Given the description of an element on the screen output the (x, y) to click on. 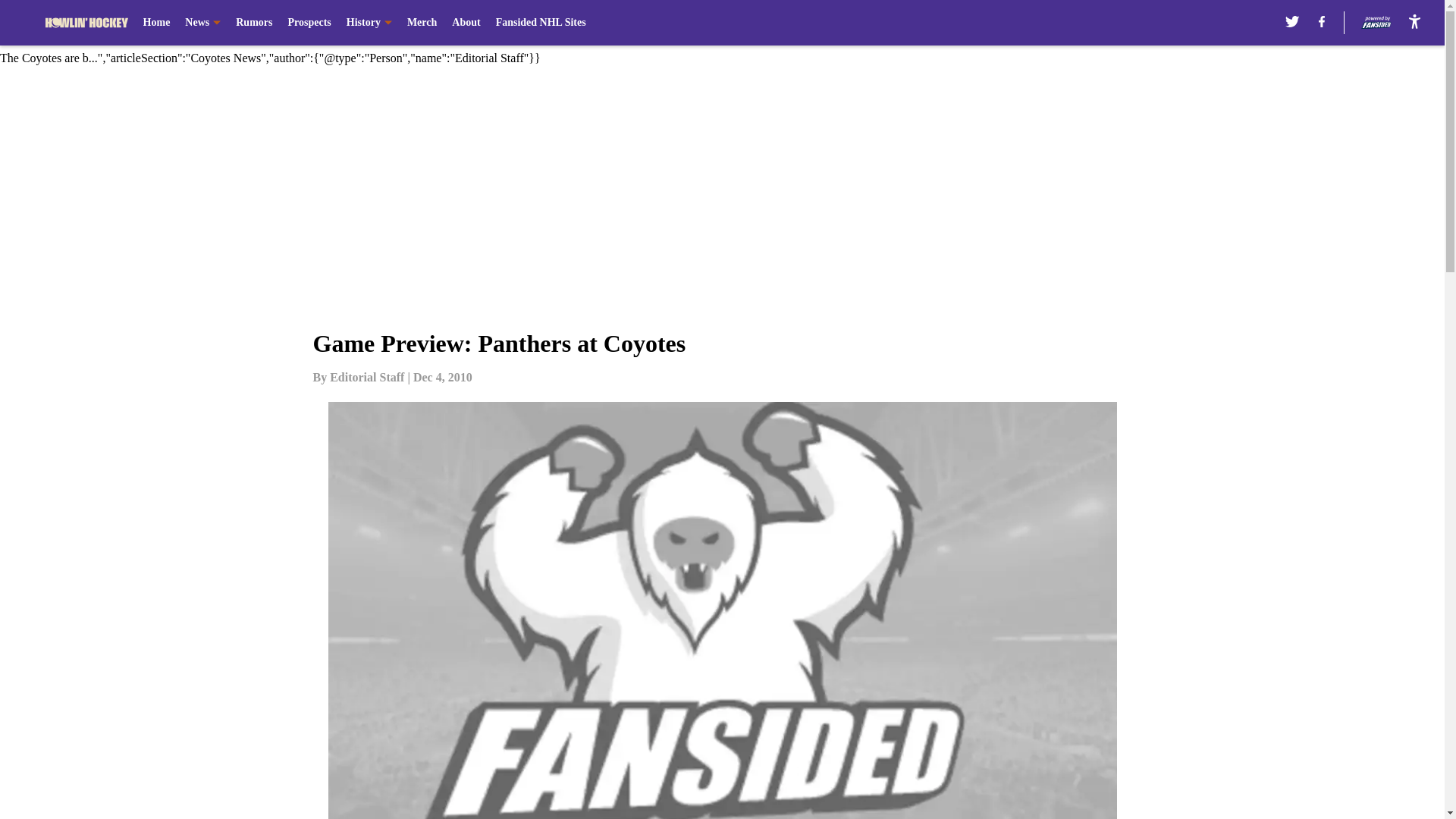
Prospects (308, 22)
About (465, 22)
Rumors (253, 22)
Merch (421, 22)
Fansided NHL Sites (541, 22)
Home (156, 22)
